Given the description of an element on the screen output the (x, y) to click on. 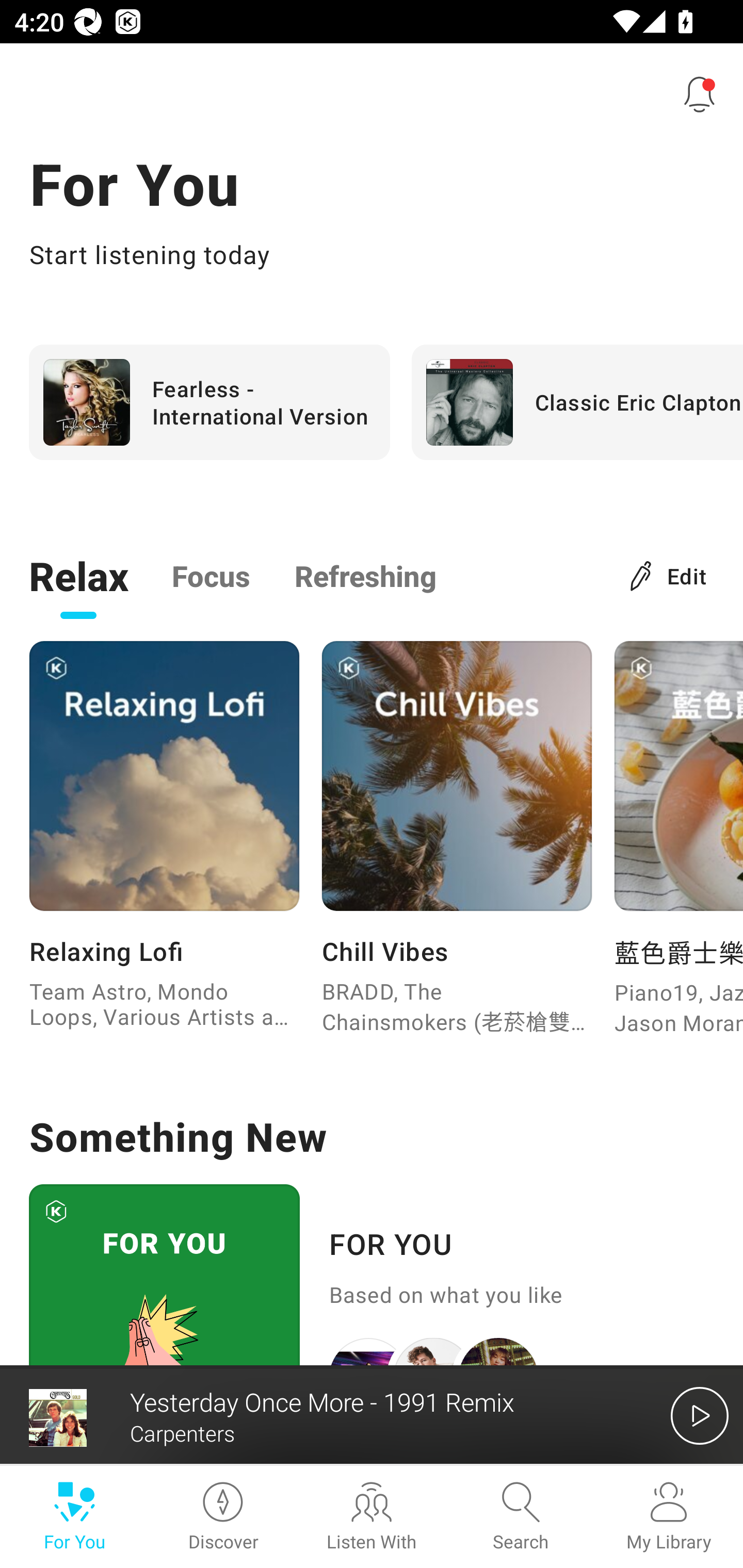
Notification (699, 93)
view_image Fearless - International Version (209, 401)
view_image Classic Eric Clapton (577, 401)
Focus (211, 575)
Refreshing (365, 575)
Edit (668, 575)
開始播放 (699, 1415)
For You (74, 1517)
Discover (222, 1517)
Listen With (371, 1517)
Search (519, 1517)
My Library (668, 1517)
